Given the description of an element on the screen output the (x, y) to click on. 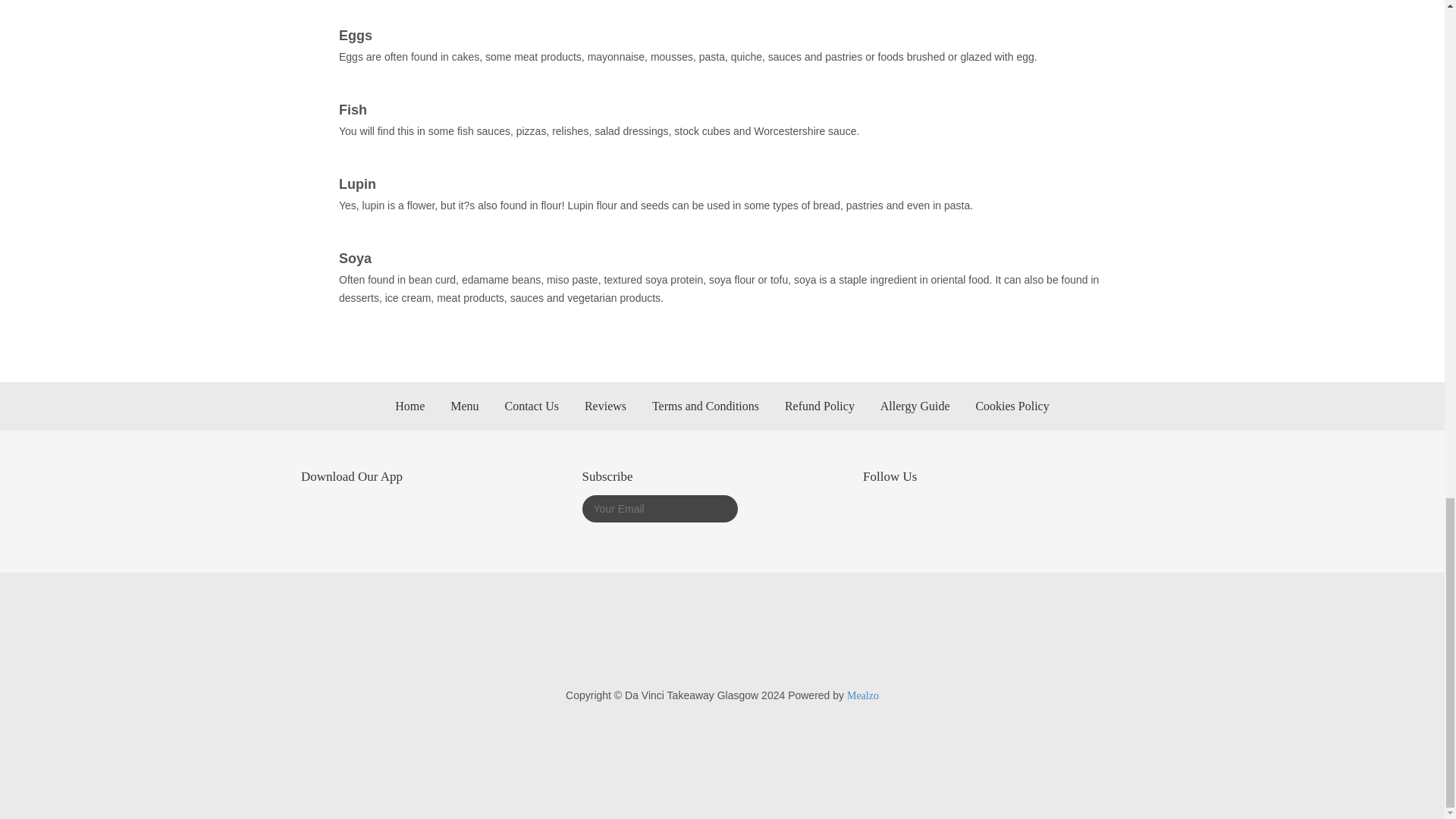
Menu (464, 405)
Follow us on facebook (899, 514)
GooglePay (600, 642)
Payeat (901, 642)
Follow us on instagram (875, 514)
Contact Us (531, 405)
American Express Safe Key (674, 642)
Cookies Policy (1011, 405)
Refund Policy (819, 405)
Home (409, 405)
ApplePay (533, 642)
Terms and Conditions (705, 405)
Reviews (605, 405)
Verified by Visa (825, 642)
Mastercard Securecode (753, 642)
